Given the description of an element on the screen output the (x, y) to click on. 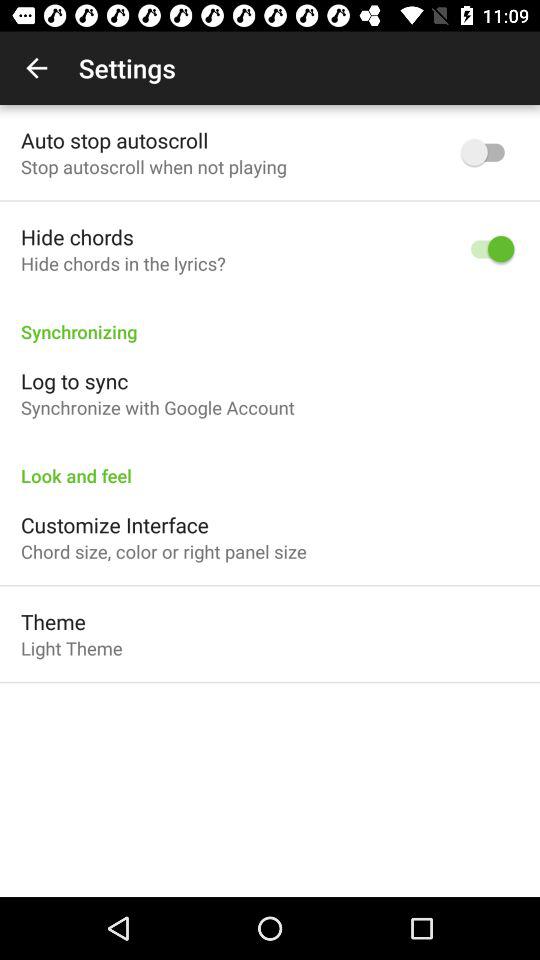
swipe until light theme (71, 648)
